Given the description of an element on the screen output the (x, y) to click on. 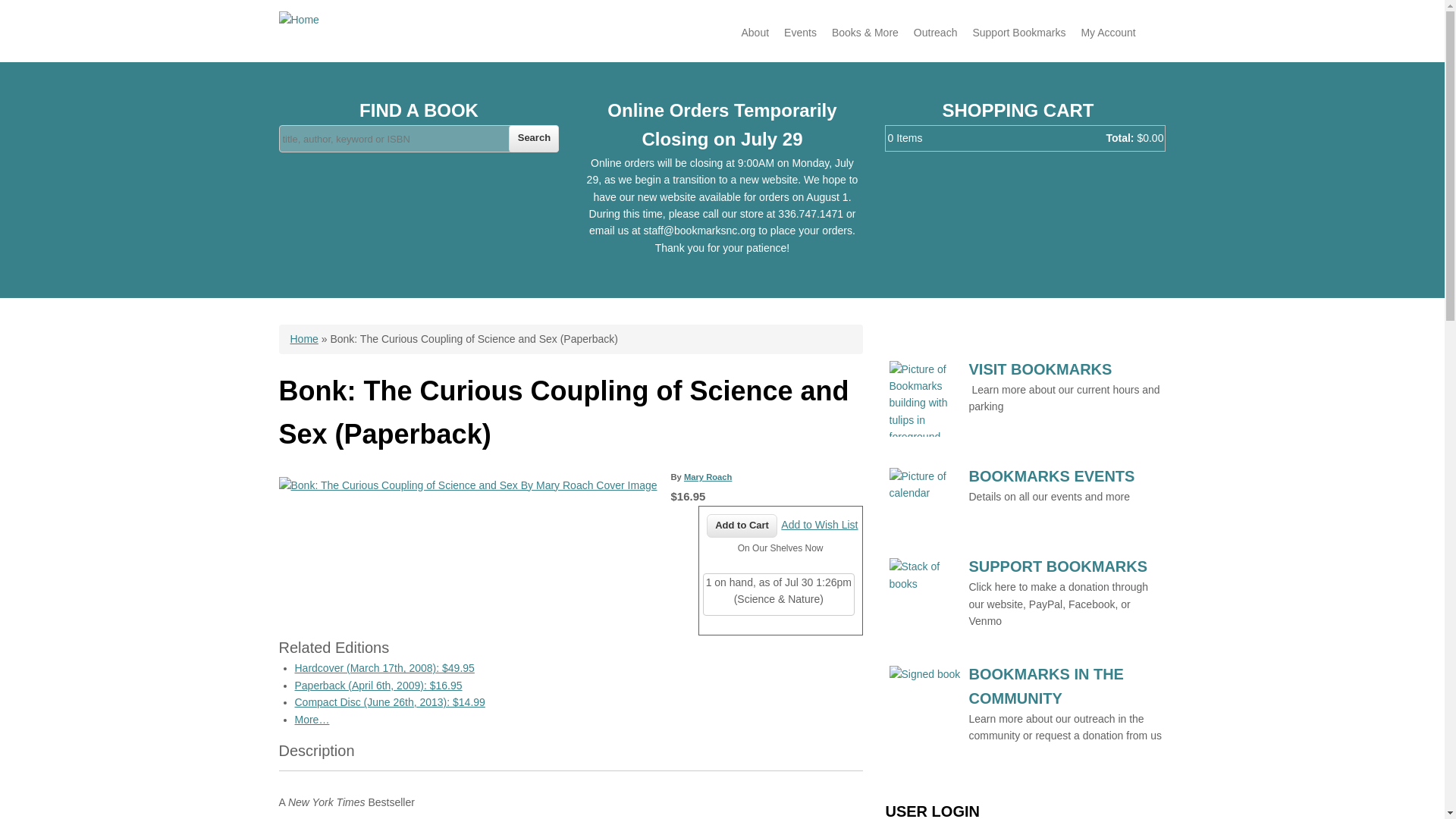
About (755, 32)
Mary Roach (708, 476)
Search (533, 138)
Home (298, 19)
Support Bookmarks (1018, 32)
Add to Cart (741, 526)
Home (303, 338)
Outreach (935, 32)
Enter the terms you wish to search for. (419, 138)
Search (533, 138)
Events (800, 32)
My Account (1107, 32)
Add to Cart (741, 526)
Add to Wish List (818, 524)
